Given the description of an element on the screen output the (x, y) to click on. 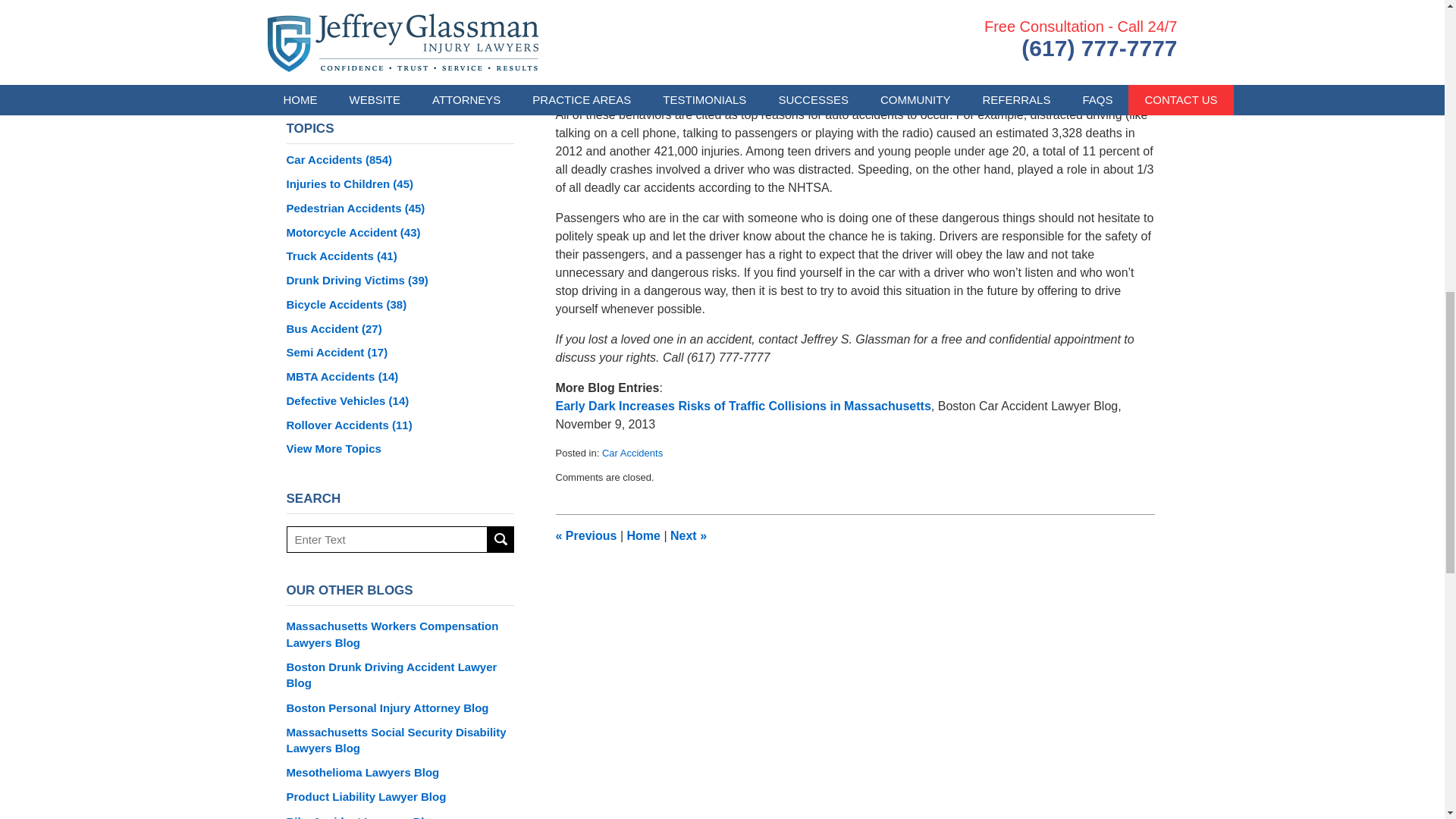
Facebook (341, 73)
CONTACT US NOW (399, 2)
Justia (418, 73)
Twitter (379, 73)
Car Accidents (632, 452)
Feed (458, 73)
Home (642, 535)
View all posts in Car Accidents (632, 452)
